Given the description of an element on the screen output the (x, y) to click on. 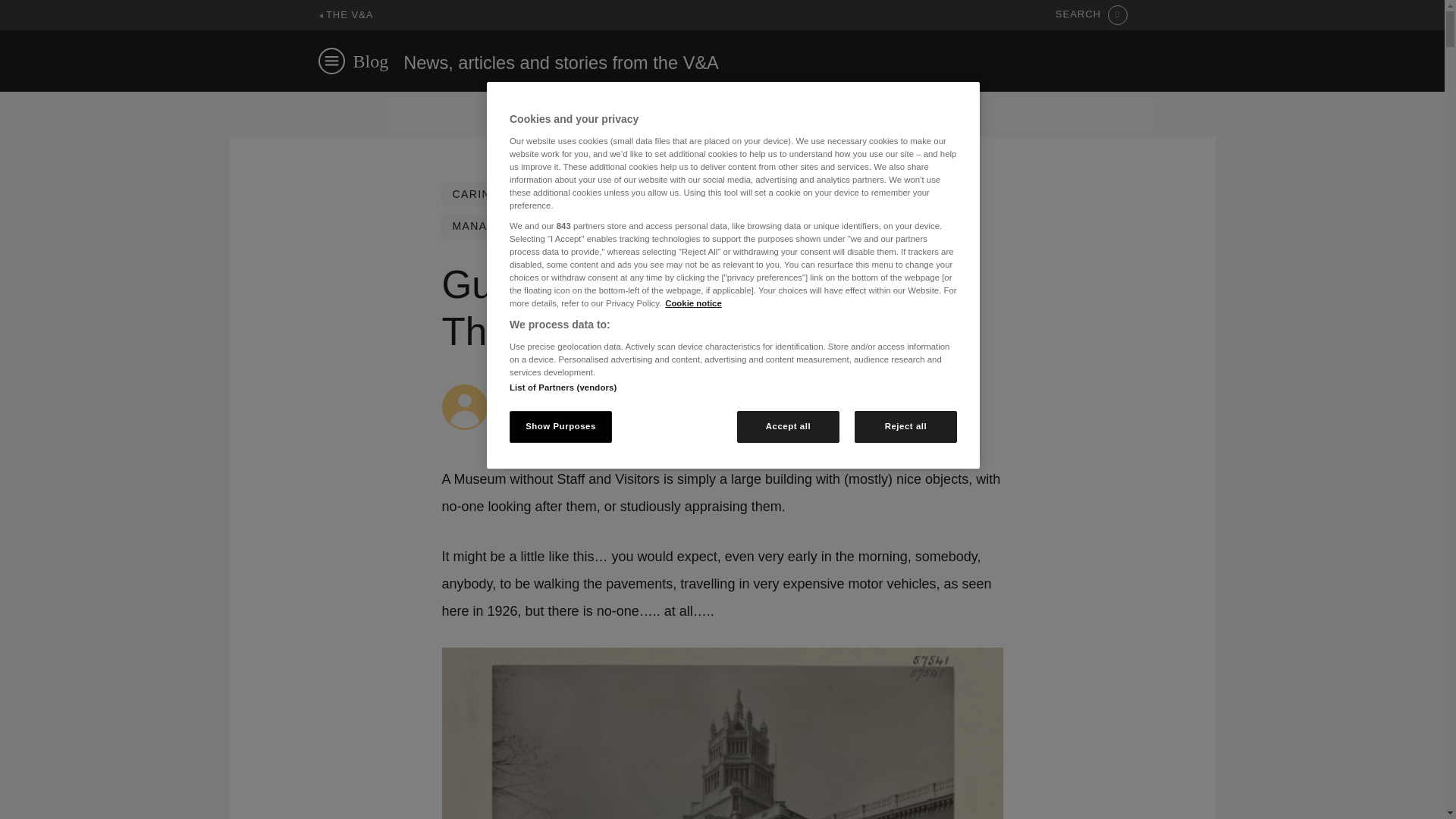
MANAGING OUR COLLECTIONS (545, 226)
Blog (370, 60)
SEARCH (1090, 15)
Steve Woodhouse (546, 391)
CONSERVATION (730, 194)
Posts by Steve Woodhouse (546, 391)
CARING FOR OUR COLLECTIONS (551, 194)
